Given the description of an element on the screen output the (x, y) to click on. 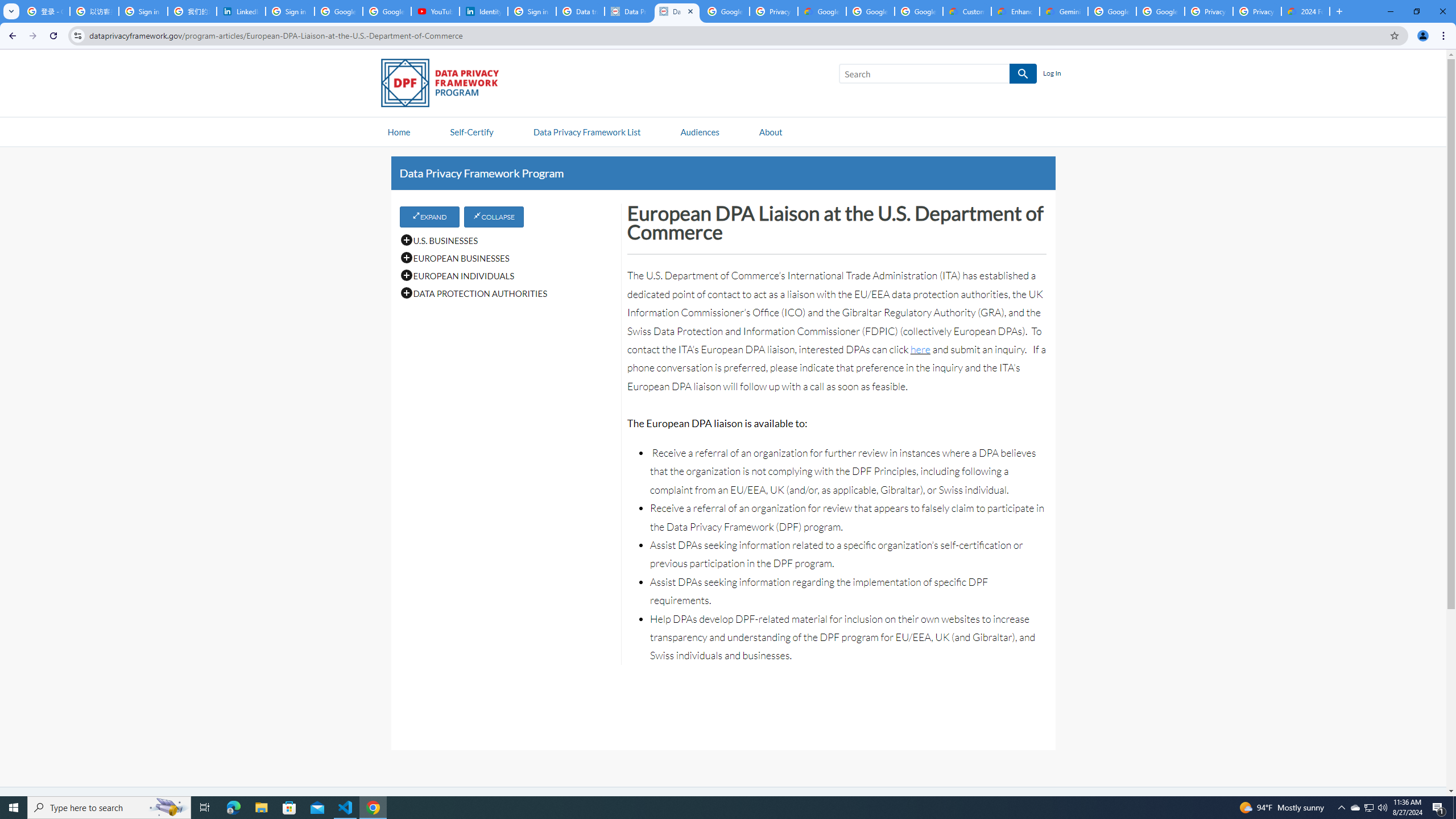
Google Cloud Platform (1112, 11)
Data Privacy Framework (676, 11)
AutomationID: navitem (699, 131)
Google Cloud Platform (1160, 11)
Sign in - Google Accounts (532, 11)
Google Workspace - Specific Terms (918, 11)
Enhanced Support | Google Cloud (1015, 11)
EXPAND (429, 216)
Sign in - Google Accounts (143, 11)
